Given the description of an element on the screen output the (x, y) to click on. 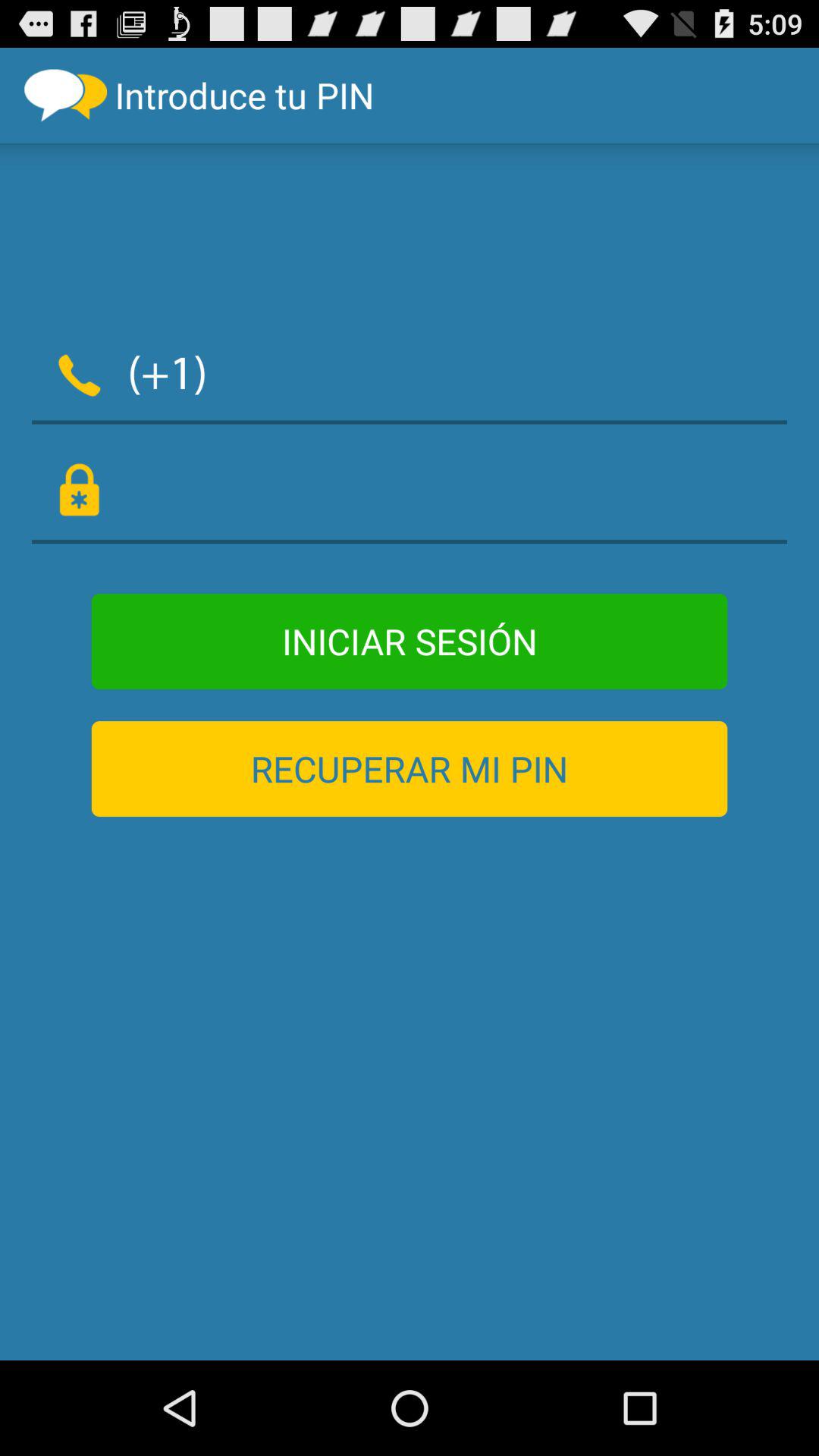
tap the item to the right of the (+1) item (507, 371)
